Given the description of an element on the screen output the (x, y) to click on. 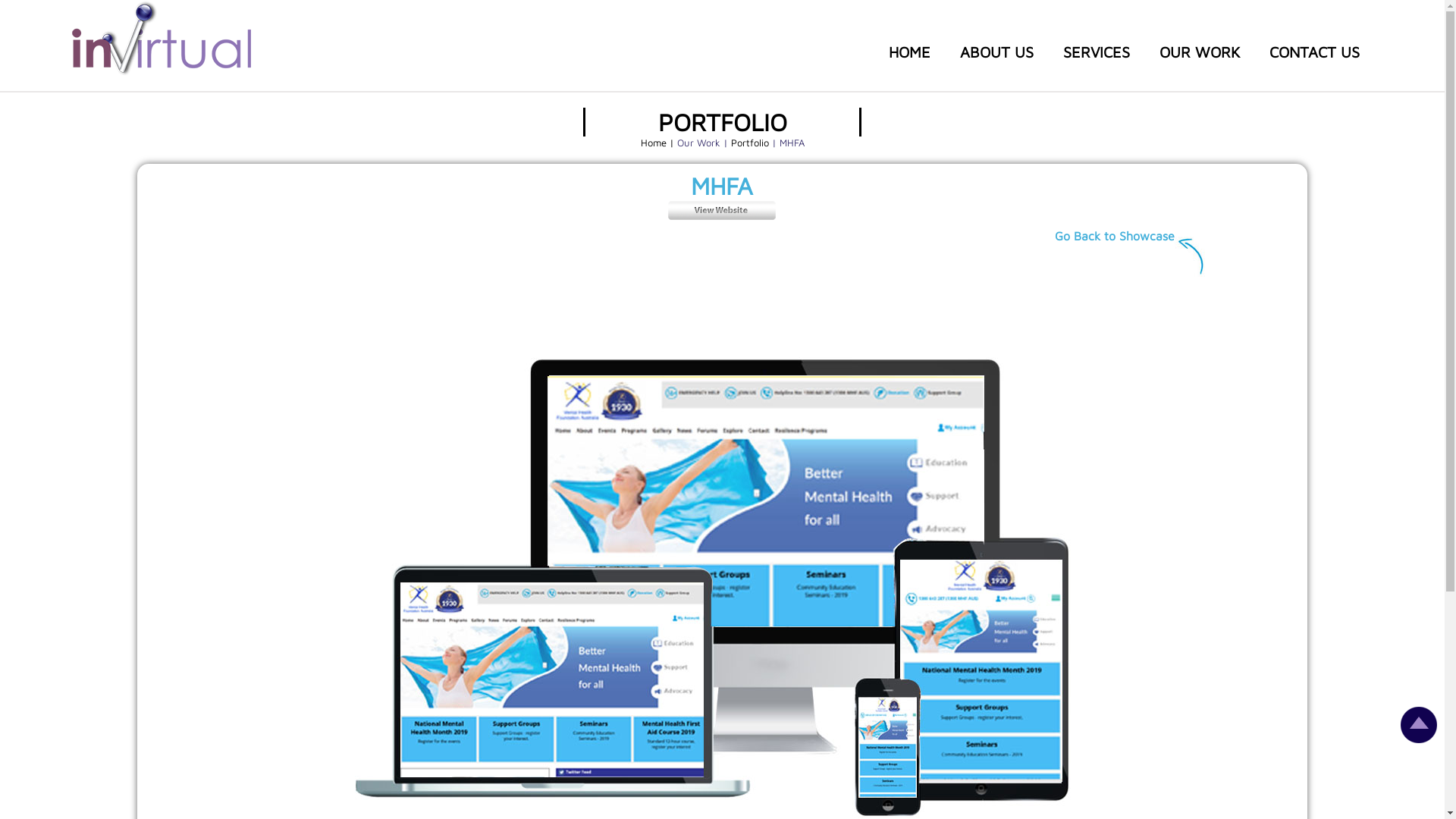
Home Element type: text (654, 142)
Invirtual - Top Element type: hover (1418, 738)
CONTACT US Element type: text (1314, 51)
ABOUT US Element type: text (996, 51)
OUR WORK Element type: text (1199, 51)
HOME Element type: text (909, 51)
MHFA  Element type: hover (722, 216)
Go Back to Showcase Element type: text (1114, 235)
SERVICES Element type: text (1096, 51)
Portfolio Element type: text (749, 142)
